Given the description of an element on the screen output the (x, y) to click on. 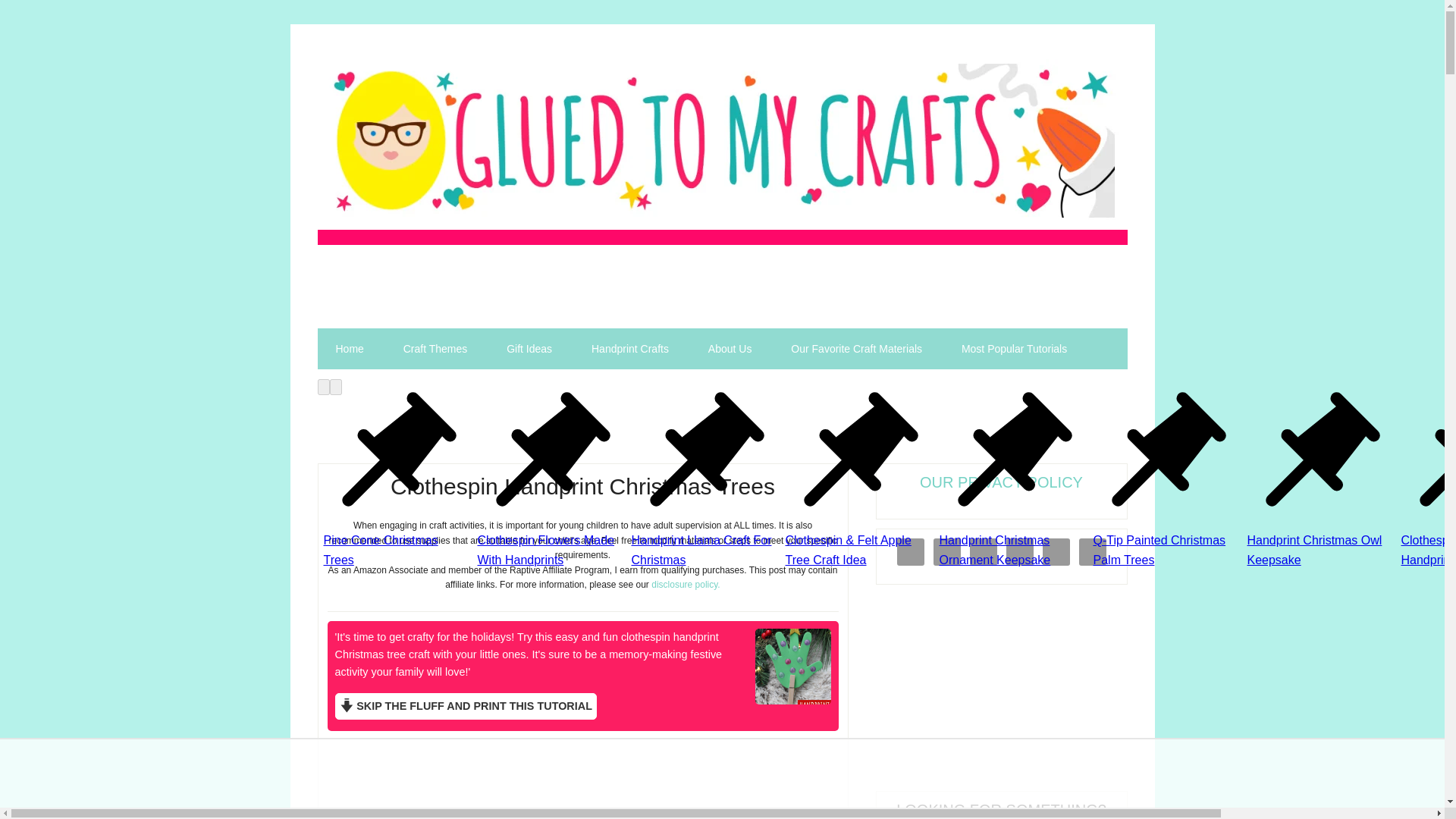
Craft Themes (435, 348)
Home (349, 348)
About Us (730, 348)
Glued To My Crafts (721, 139)
Our Favorite Craft Materials (856, 348)
Handprint Crafts (630, 348)
Gift Ideas (528, 348)
